Given the description of an element on the screen output the (x, y) to click on. 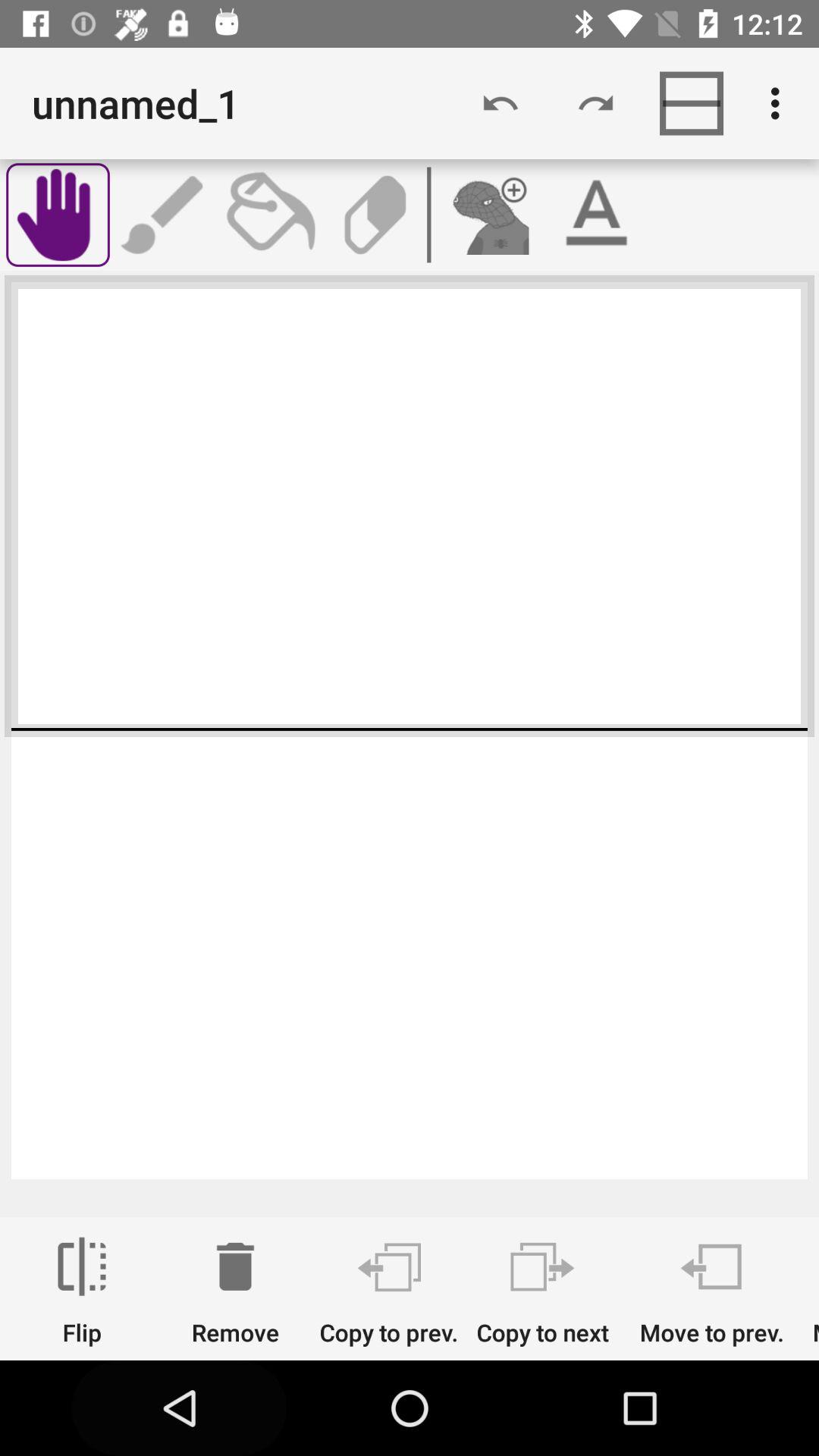
freehand draw (57, 214)
